Given the description of an element on the screen output the (x, y) to click on. 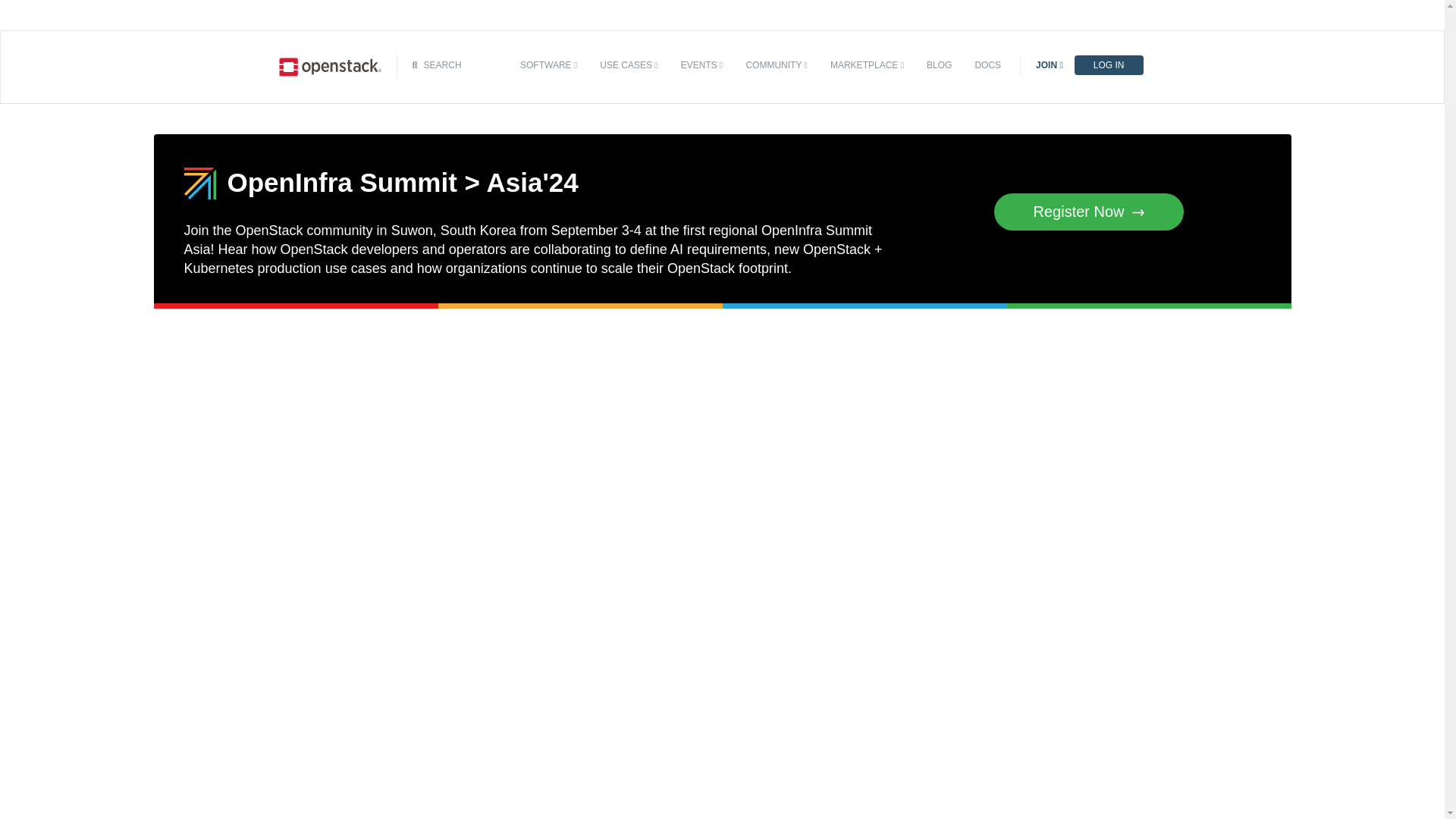
USE CASES (628, 64)
COMMUNITY (775, 64)
SOFTWARE (548, 64)
EVENTS (702, 64)
